Given the description of an element on the screen output the (x, y) to click on. 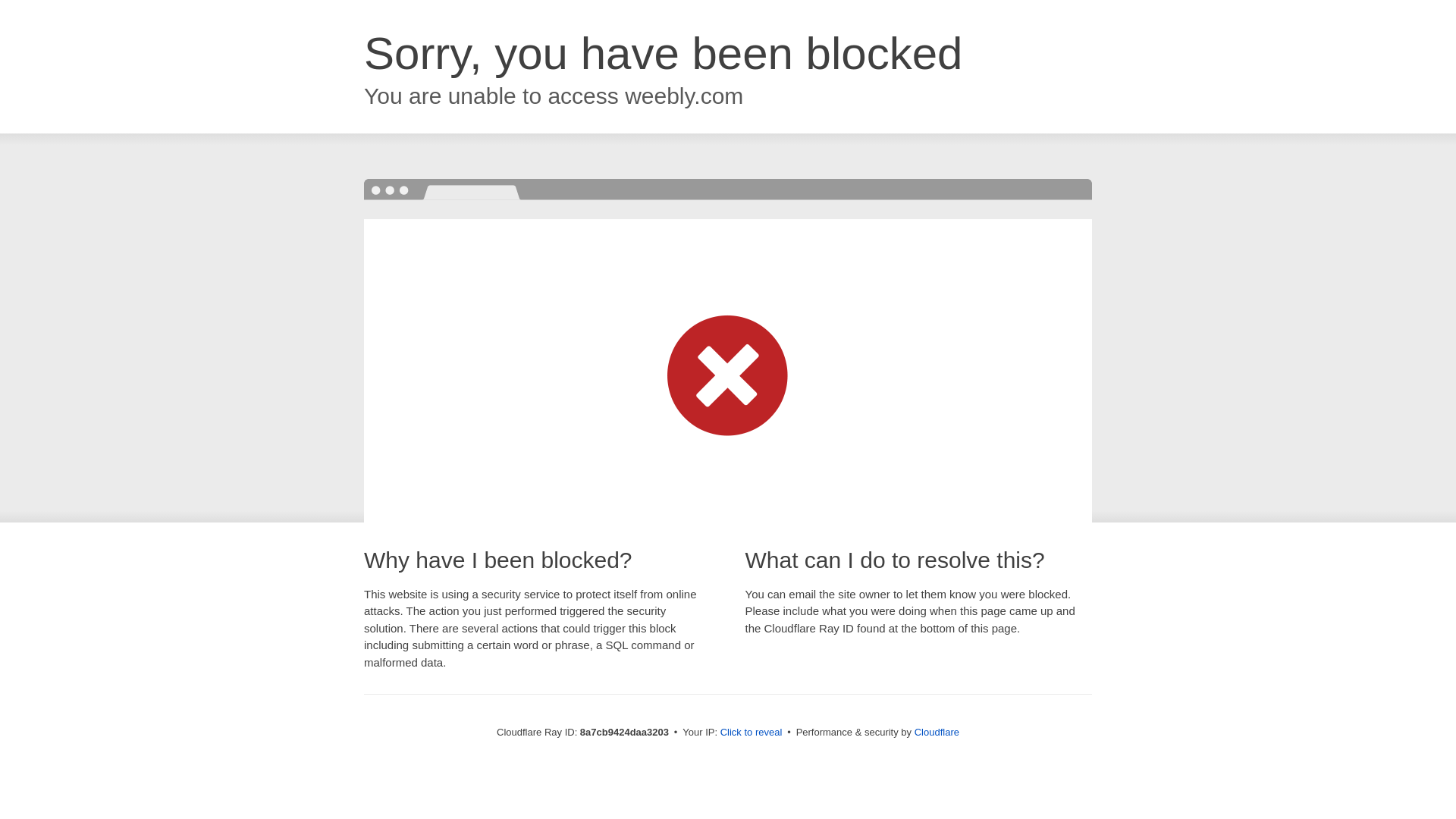
Cloudflare (936, 731)
Click to reveal (751, 732)
